Given the description of an element on the screen output the (x, y) to click on. 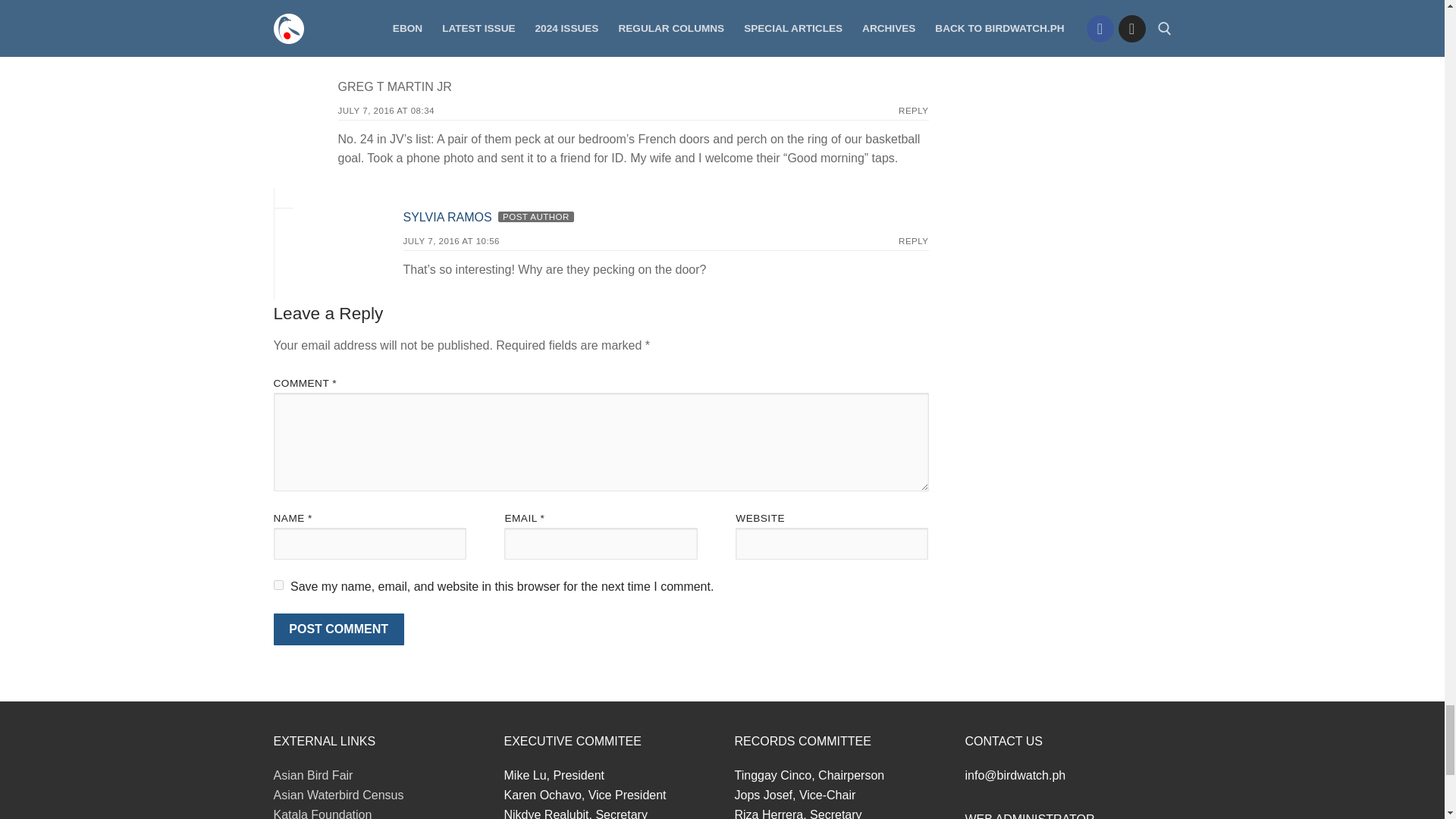
Post Comment (338, 629)
yes (277, 584)
